Given the description of an element on the screen output the (x, y) to click on. 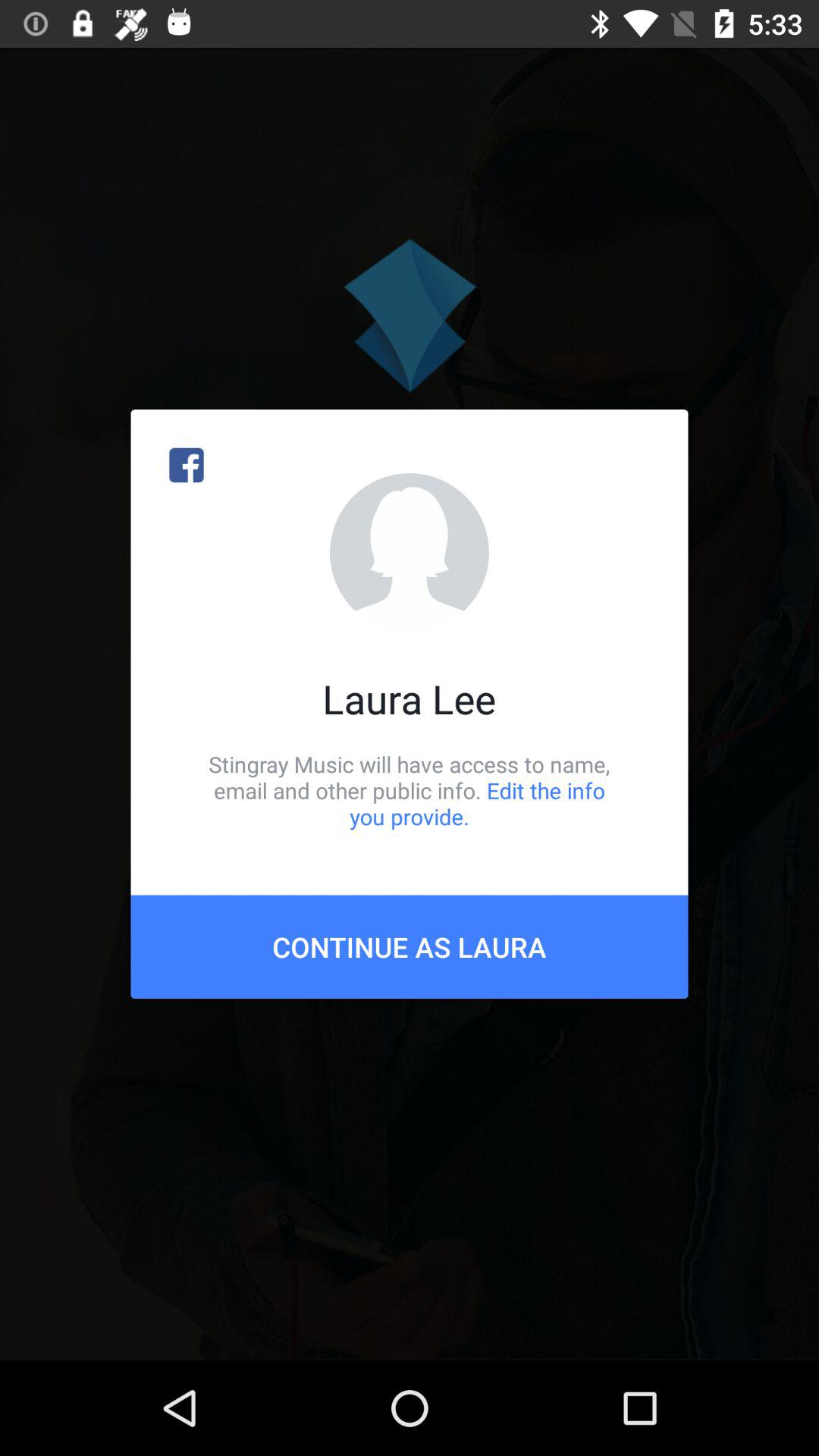
swipe to the stingray music will (409, 790)
